Given the description of an element on the screen output the (x, y) to click on. 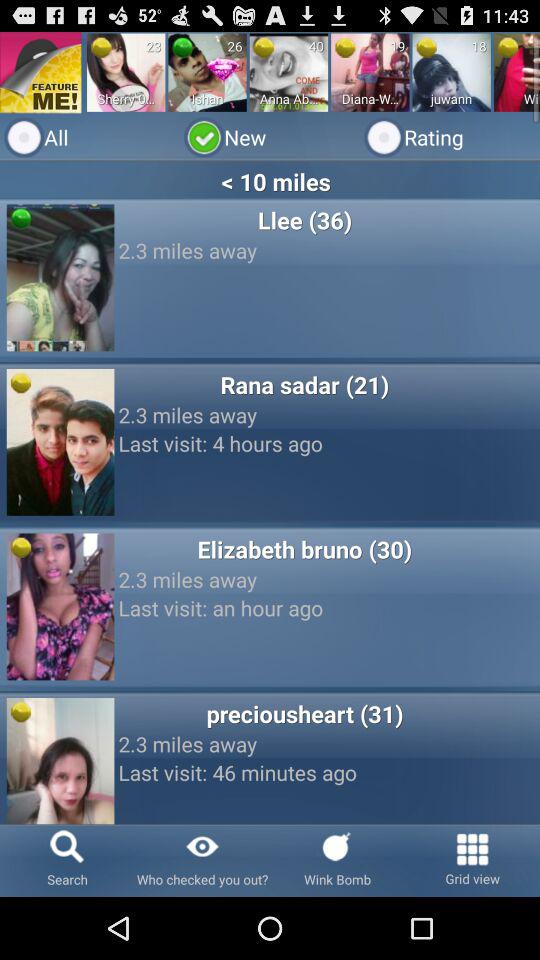
turn on icon above ishan item (222, 68)
